Given the description of an element on the screen output the (x, y) to click on. 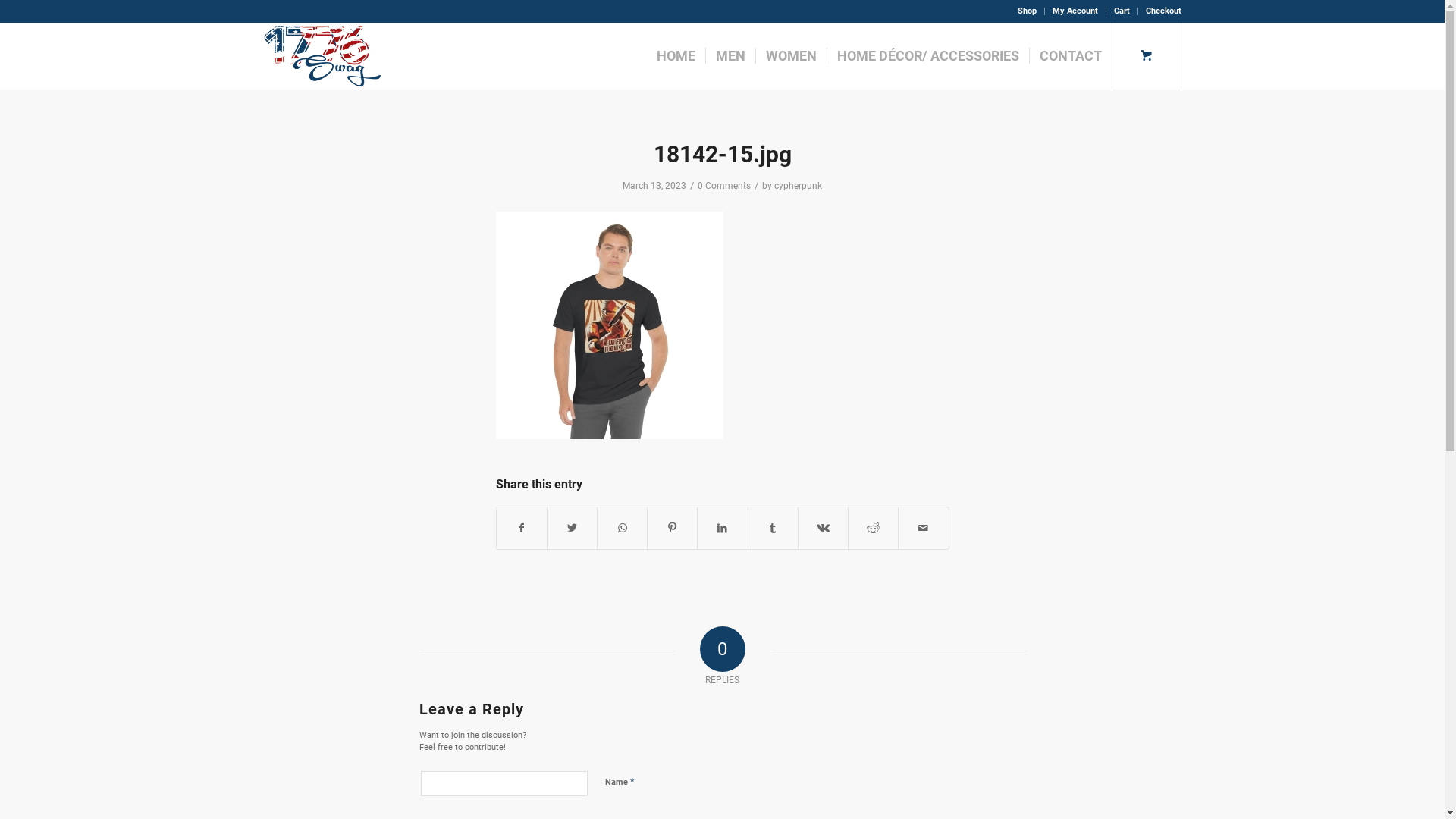
CONTACT Element type: text (1069, 55)
My Account Element type: text (1075, 10)
0 Comments Element type: text (723, 185)
WOMEN Element type: text (790, 55)
Cart Element type: text (1121, 10)
cypherpunk Element type: text (798, 185)
HOME Element type: text (675, 55)
18142-15.jpg Element type: text (722, 154)
MEN Element type: text (730, 55)
Checkout Element type: text (1162, 10)
Shop Element type: text (1026, 10)
